Given the description of an element on the screen output the (x, y) to click on. 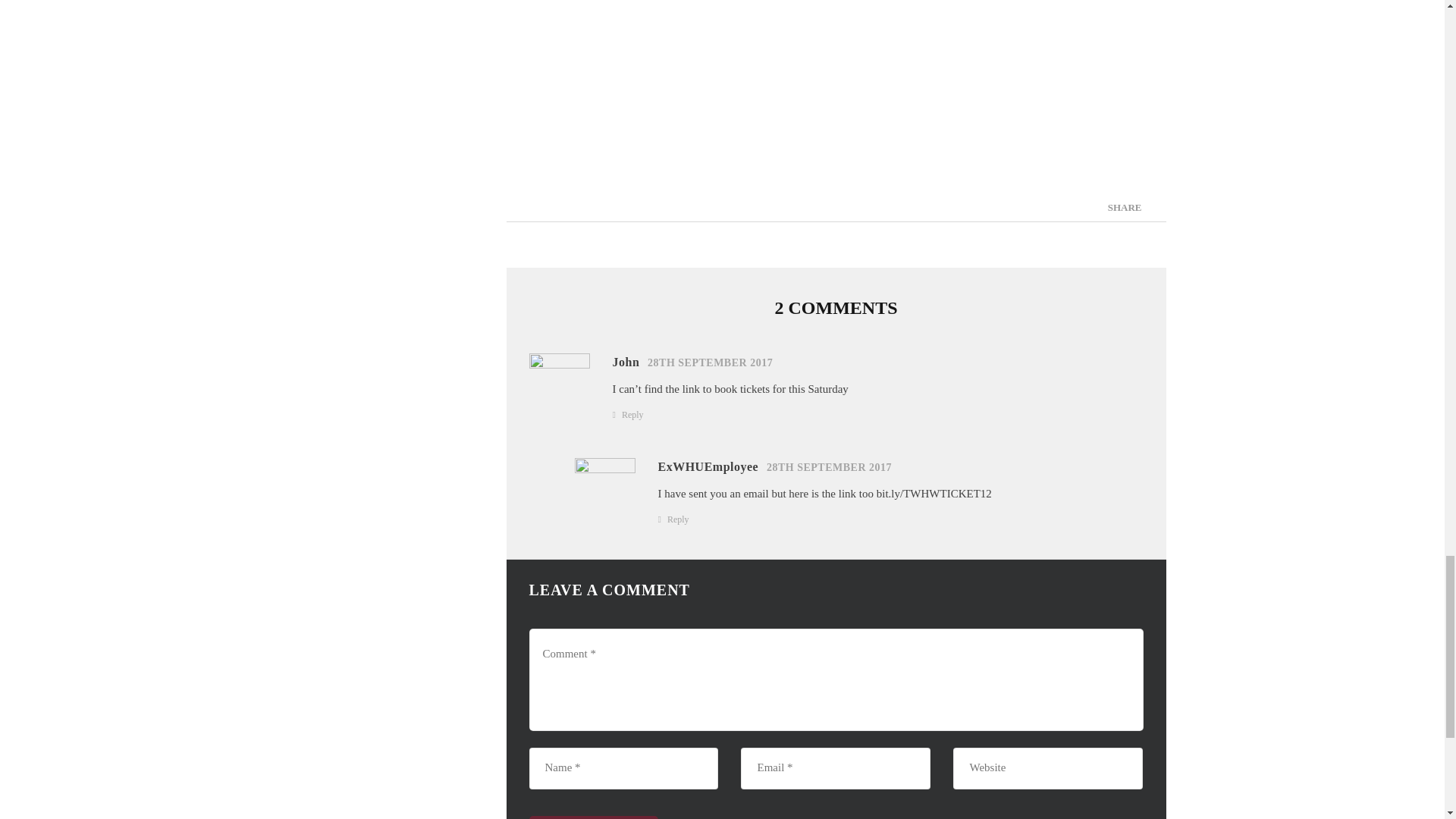
Reply (632, 413)
Reply (677, 518)
Post Comment (593, 817)
Post Comment (593, 817)
